Given the description of an element on the screen output the (x, y) to click on. 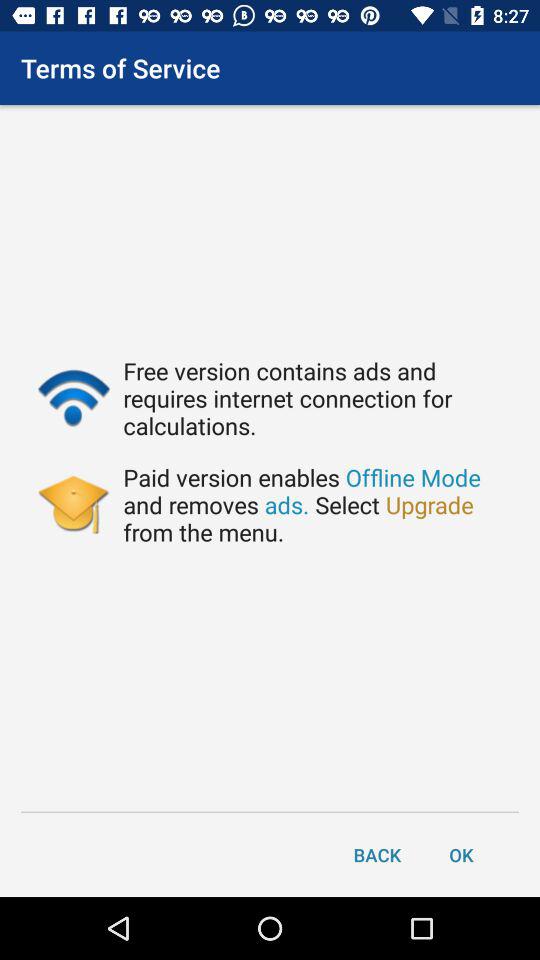
tap the ok item (461, 854)
